Given the description of an element on the screen output the (x, y) to click on. 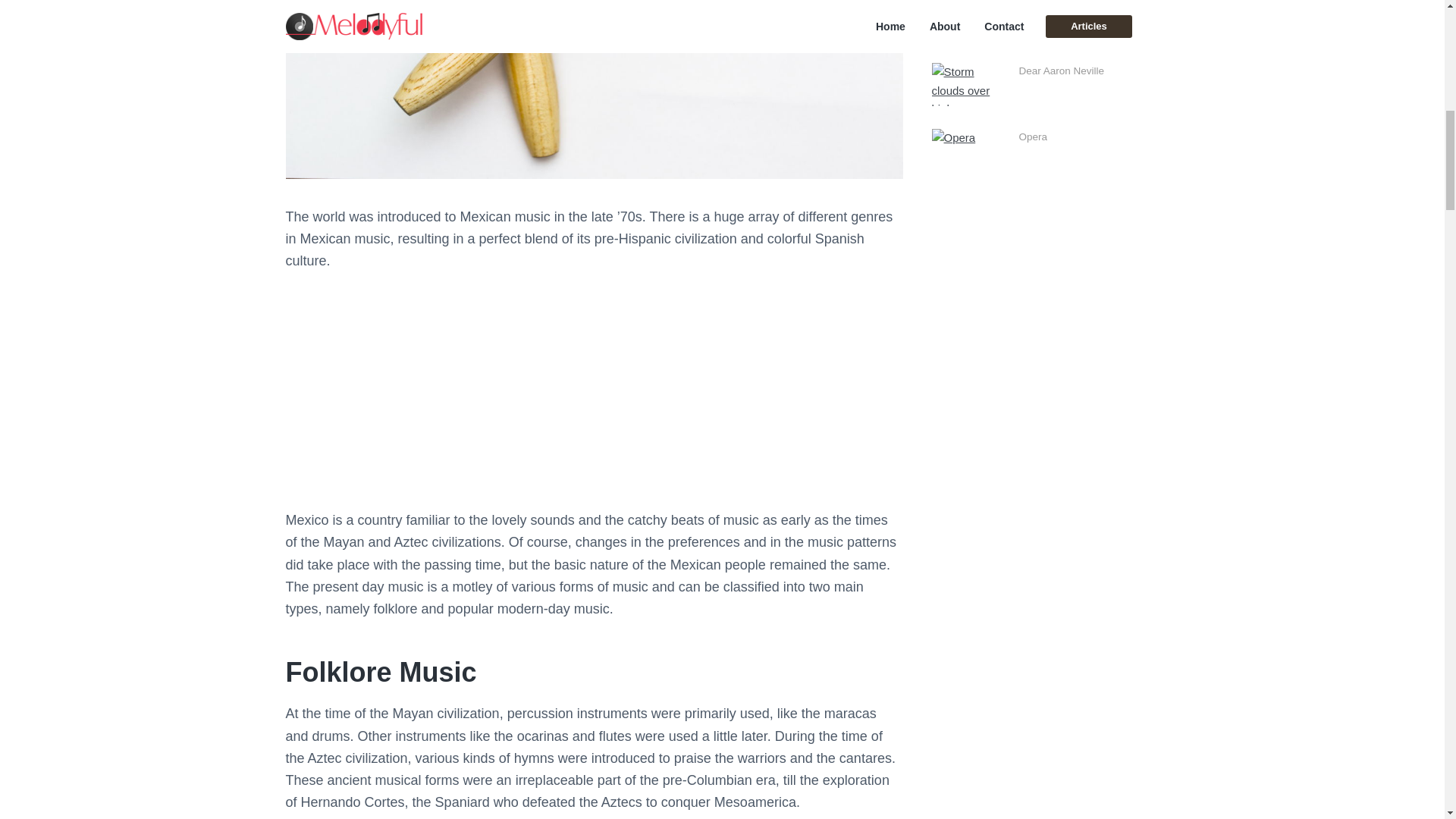
Dear Aaron Neville (1062, 70)
Opera (1033, 136)
The Holy Spirit (1052, 5)
